Given the description of an element on the screen output the (x, y) to click on. 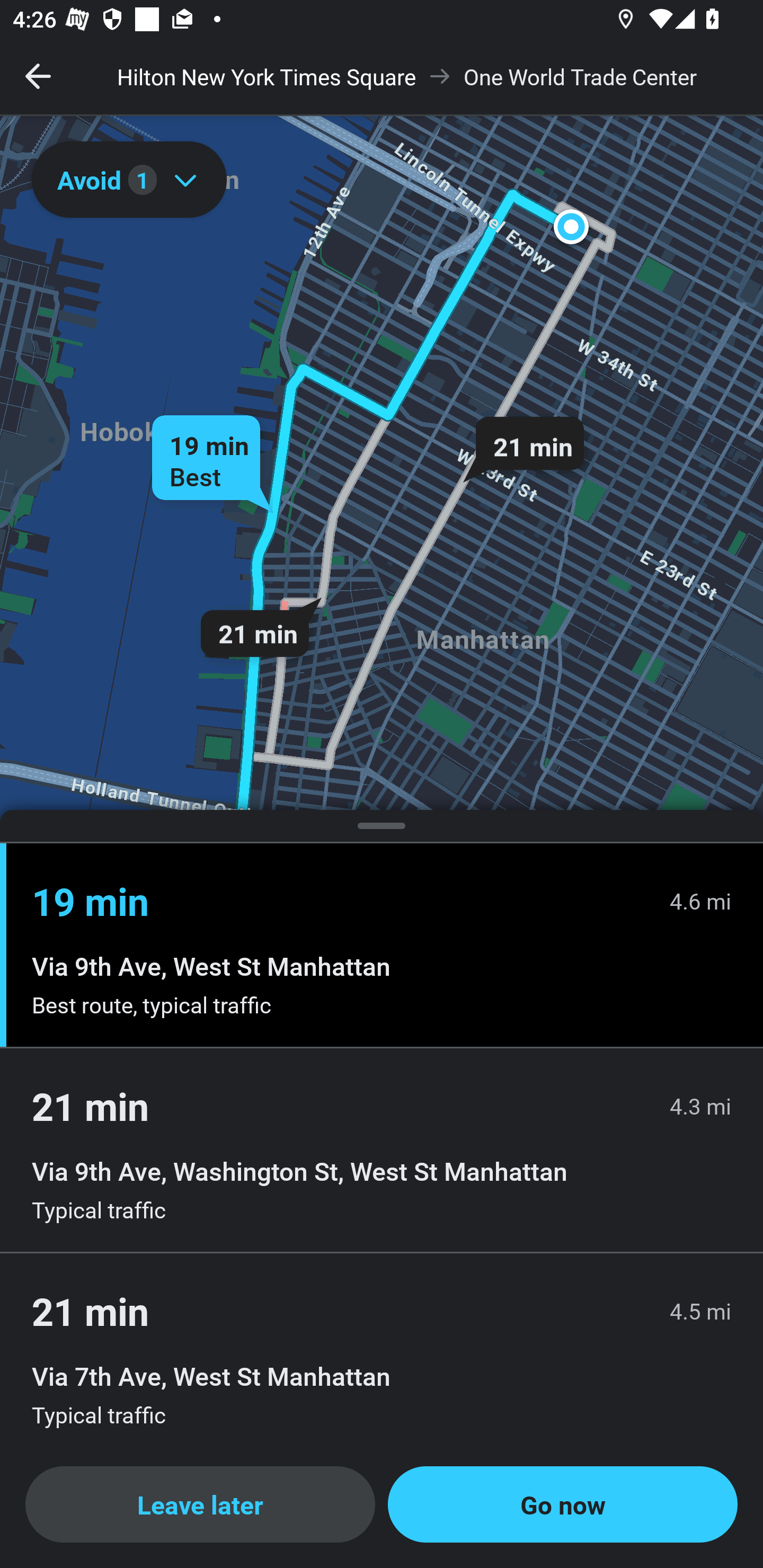
Leave later (200, 1504)
Go now (562, 1504)
